Given the description of an element on the screen output the (x, y) to click on. 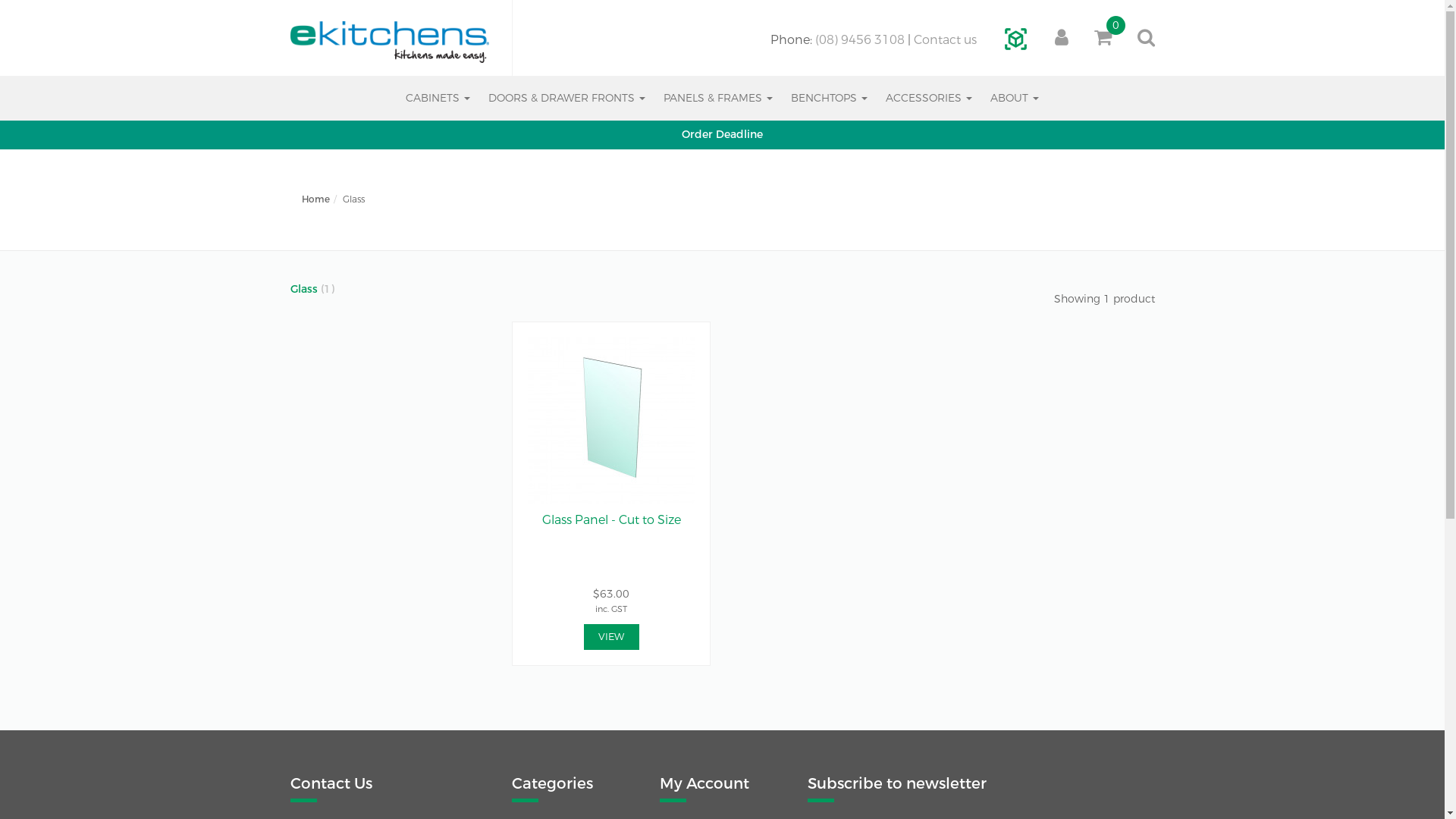
Glass (1) Element type: text (311, 289)
Home Element type: text (315, 199)
ACCESSORIES Element type: text (928, 98)
VIEW Element type: text (611, 636)
PANELS & FRAMES Element type: text (717, 98)
Search Element type: text (1108, 73)
Order Deadline Element type: text (722, 134)
(08) 9456 3108 Element type: text (858, 39)
0 Element type: text (1101, 37)
CABINETS Element type: text (437, 98)
Glass Panel - Cut to Size Element type: hover (610, 420)
Glass Panel - Cut to Size Element type: text (611, 519)
Contact us Element type: text (944, 39)
Home Element type: hover (389, 41)
DOORS & DRAWER FRONTS Element type: text (566, 98)
BENCHTOPS Element type: text (829, 98)
ABOUT Element type: text (1014, 98)
Plan Your Kitchen Element type: hover (1015, 38)
